Given the description of an element on the screen output the (x, y) to click on. 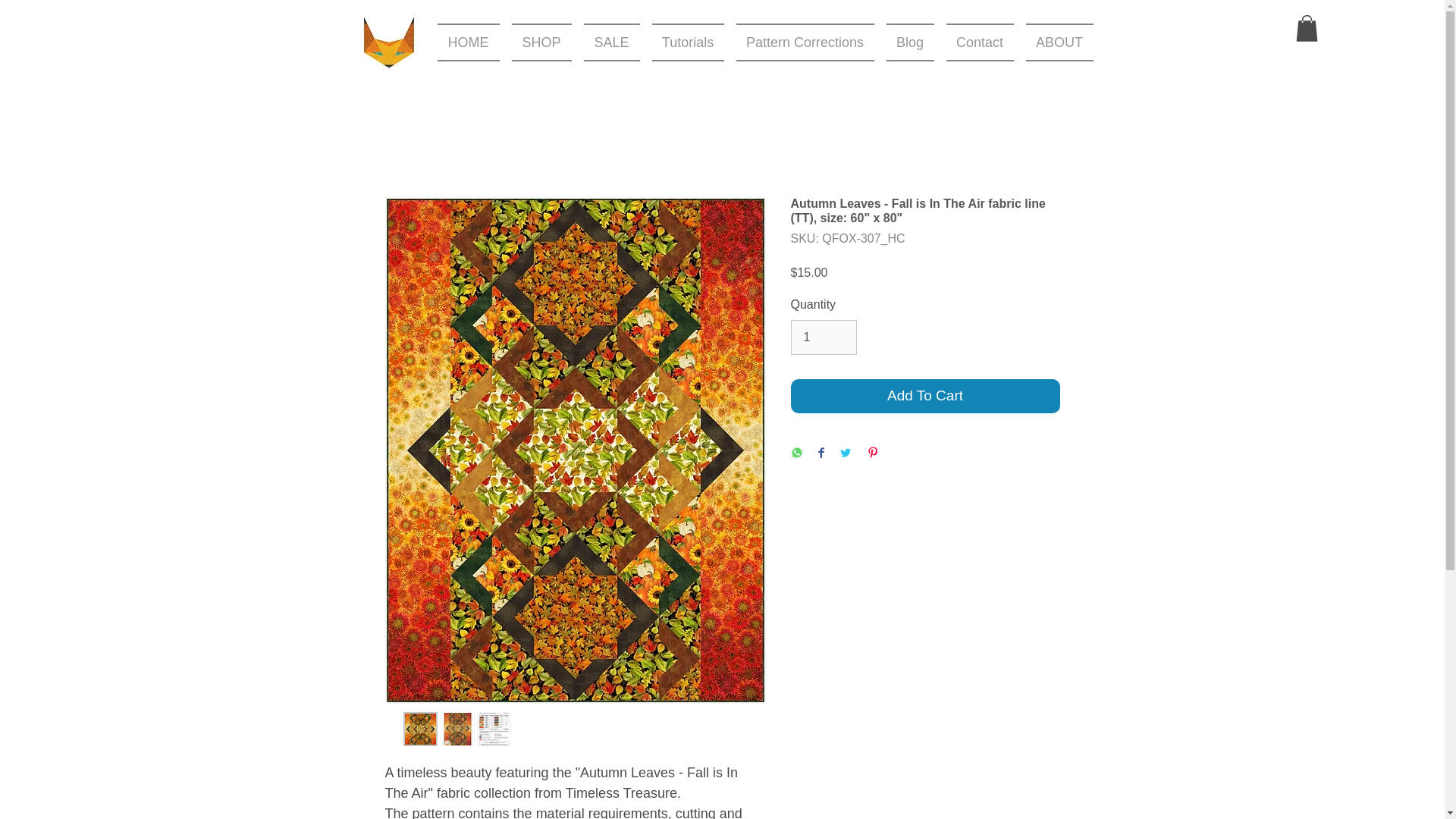
SHOP (540, 42)
1 (823, 337)
SALE (612, 42)
Contact (980, 42)
HOME (470, 42)
Blog (909, 42)
Tutorials (688, 42)
Pattern Corrections (804, 42)
Add To Cart (924, 396)
ABOUT (1056, 42)
